Given the description of an element on the screen output the (x, y) to click on. 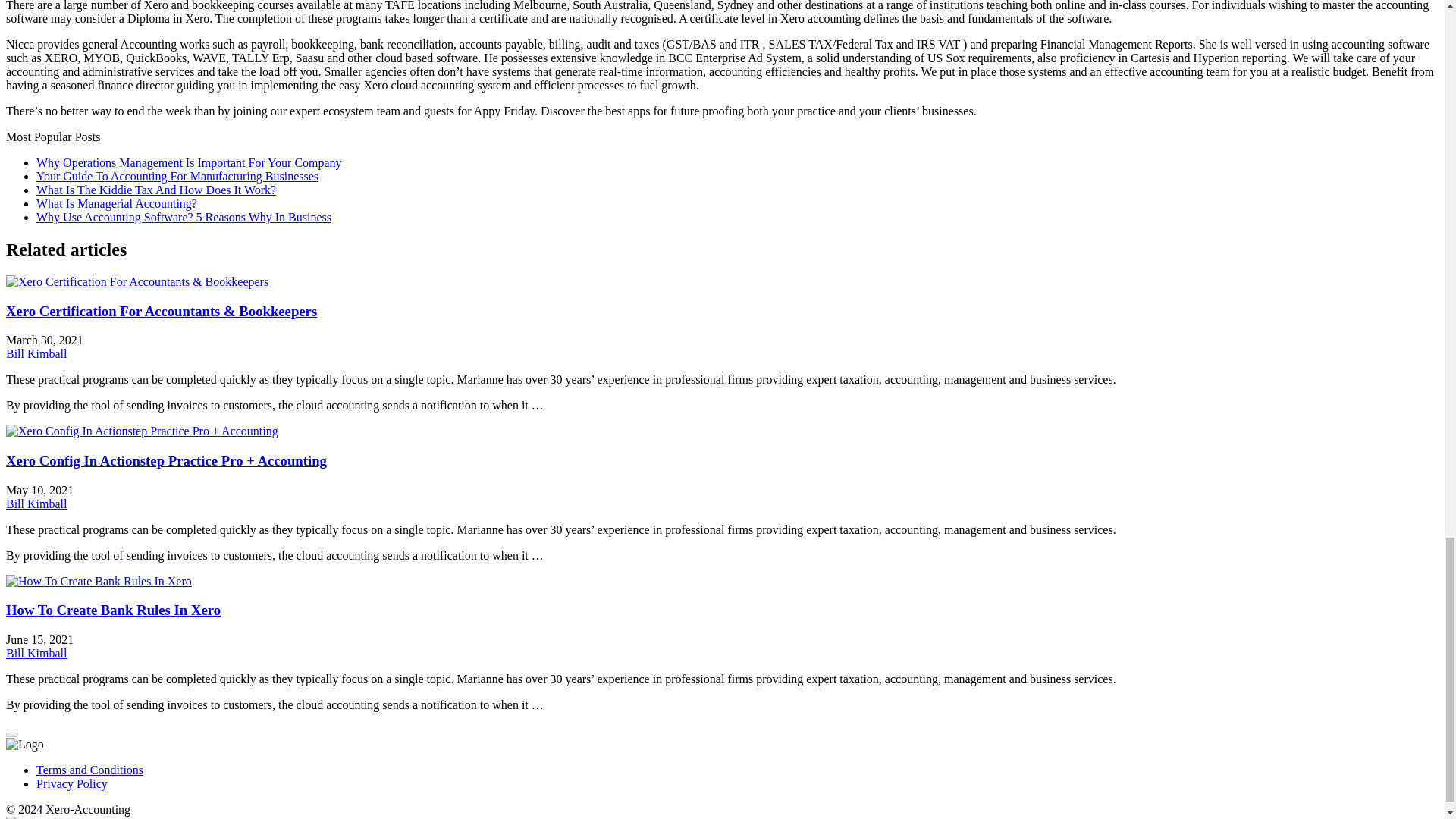
Why Operations Management Is Important For Your Company (189, 162)
Your Guide To Accounting For Manufacturing Businesses (177, 175)
Bill Kimball (35, 503)
Terms and Conditions (89, 769)
Bill Kimball (35, 653)
Why Use Accounting Software? 5 Reasons Why In Business (183, 216)
Bill Kimball (35, 353)
What Is The Kiddie Tax And How Does It Work? (156, 189)
What Is Managerial Accounting? (116, 203)
Privacy Policy (71, 783)
